Given the description of an element on the screen output the (x, y) to click on. 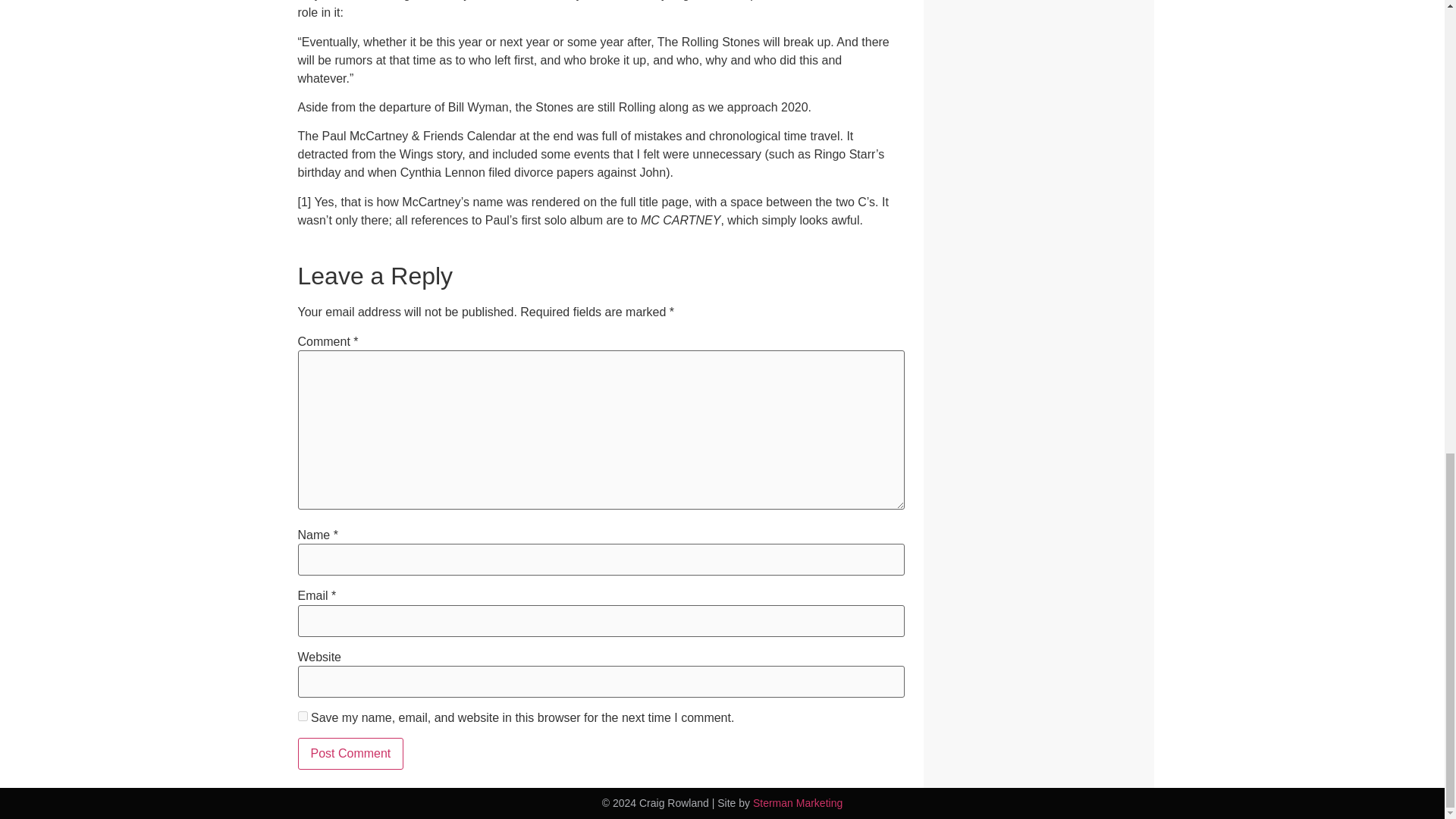
Post Comment (350, 753)
yes (302, 716)
Post Comment (350, 753)
